Given the description of an element on the screen output the (x, y) to click on. 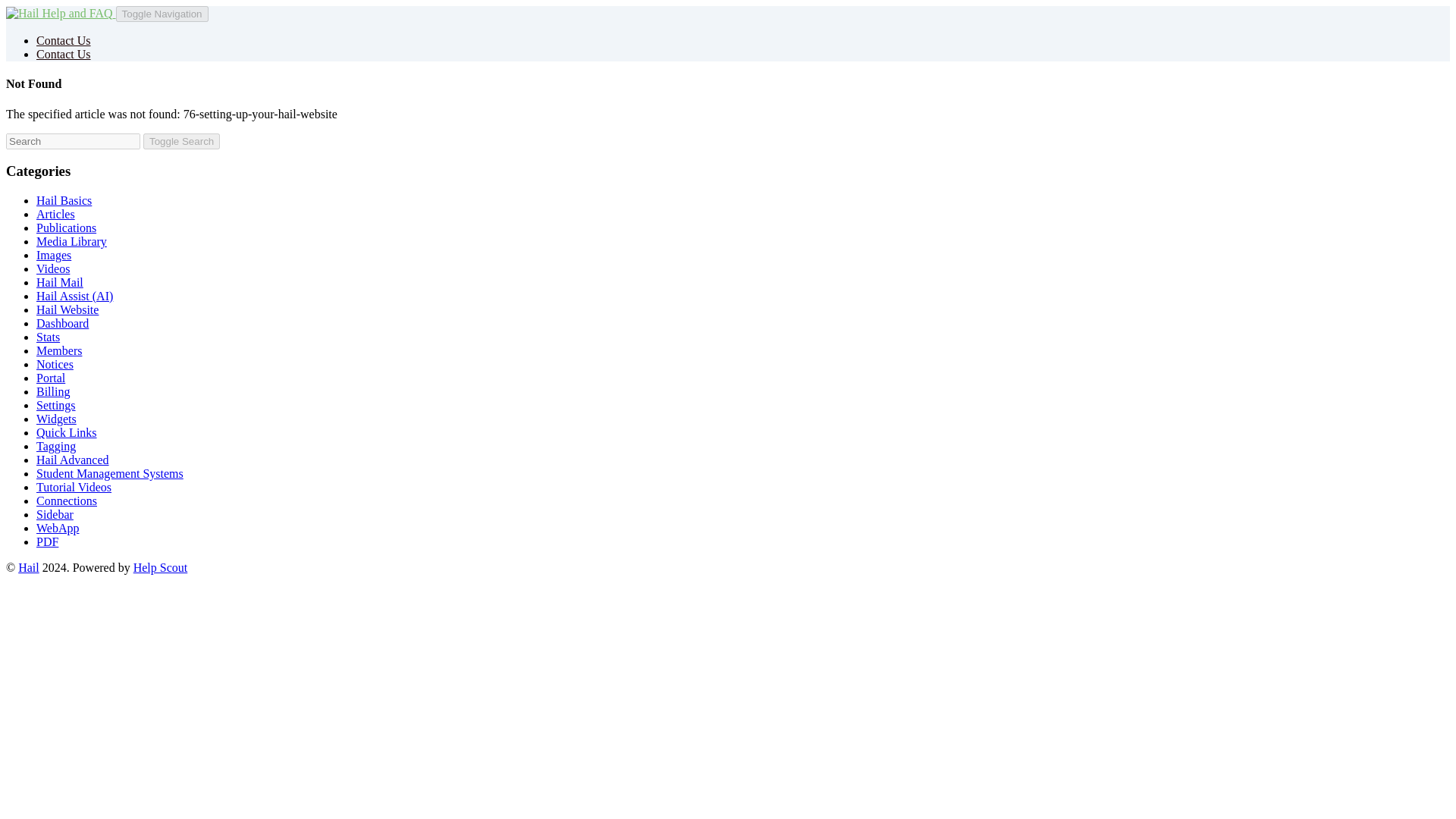
Tagging (55, 445)
Articles (55, 214)
Widgets (56, 418)
Sidebar (55, 513)
Contact Us (63, 53)
Videos (52, 268)
Publications (66, 227)
Members (58, 350)
Connections (66, 500)
WebApp (57, 527)
Portal (50, 377)
Dashboard (62, 323)
Stats (47, 336)
Quick Links (66, 431)
Hail Advanced (72, 459)
